Given the description of an element on the screen output the (x, y) to click on. 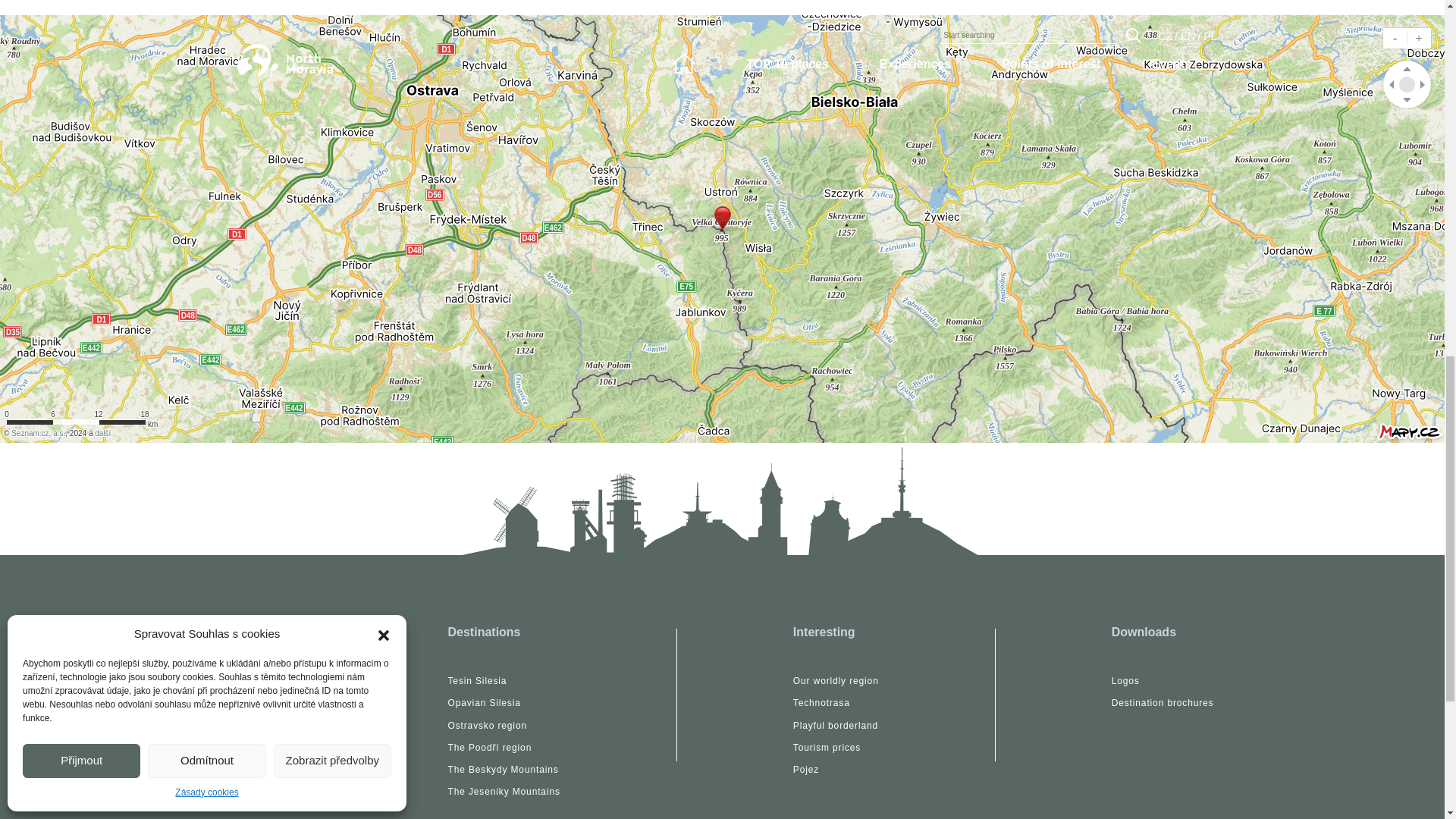
Posun mapy (1407, 84)
